Given the description of an element on the screen output the (x, y) to click on. 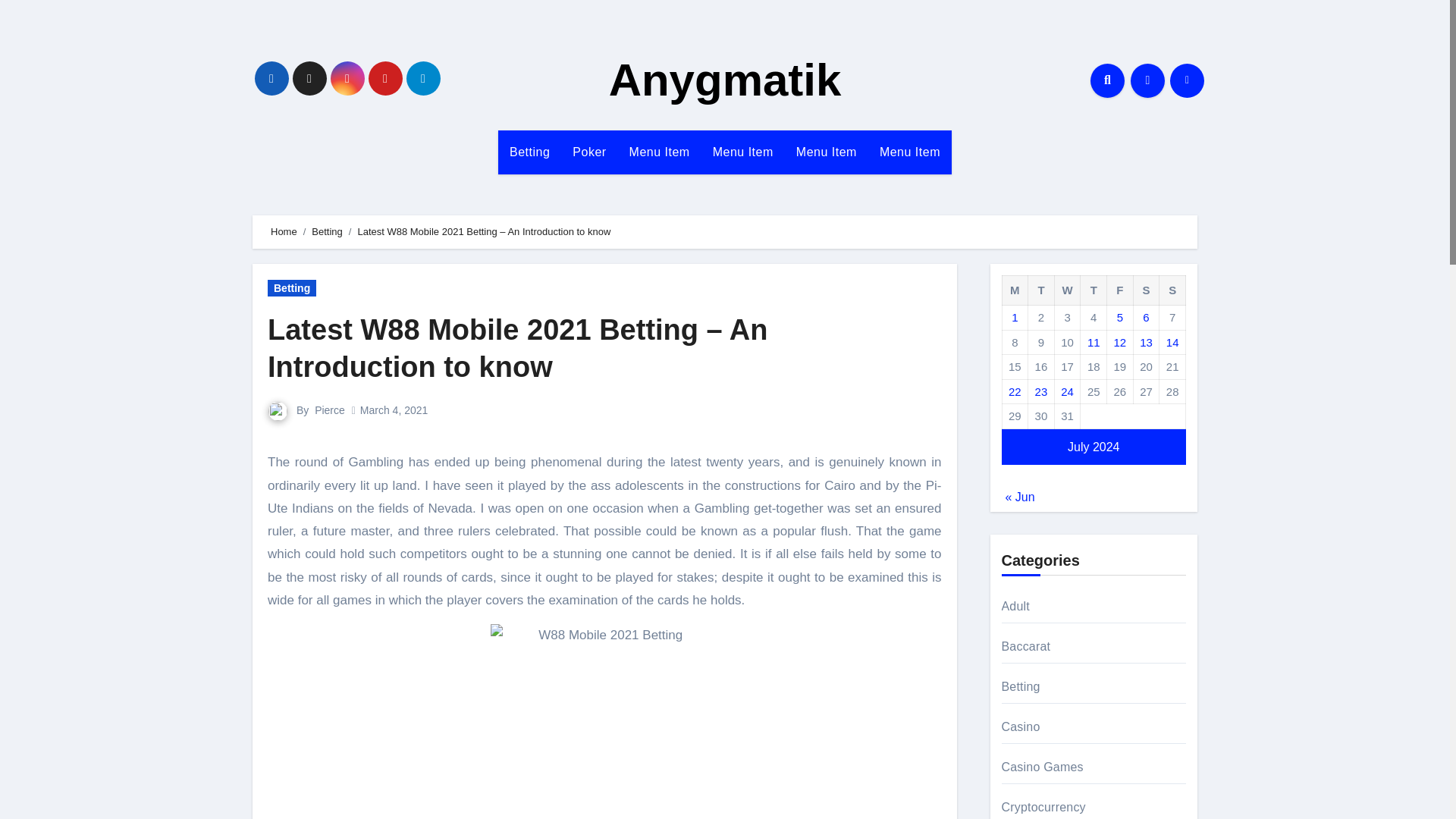
Home (283, 231)
Betting (528, 152)
Menu Item (742, 152)
Betting (326, 231)
Menu Item (909, 152)
Menu Item (742, 152)
Menu Item (909, 152)
Betting (528, 152)
Anygmatik (724, 79)
Betting (291, 288)
Menu Item (825, 152)
Poker (588, 152)
Menu Item (659, 152)
Menu Item (825, 152)
March 4, 2021 (393, 410)
